Given the description of an element on the screen output the (x, y) to click on. 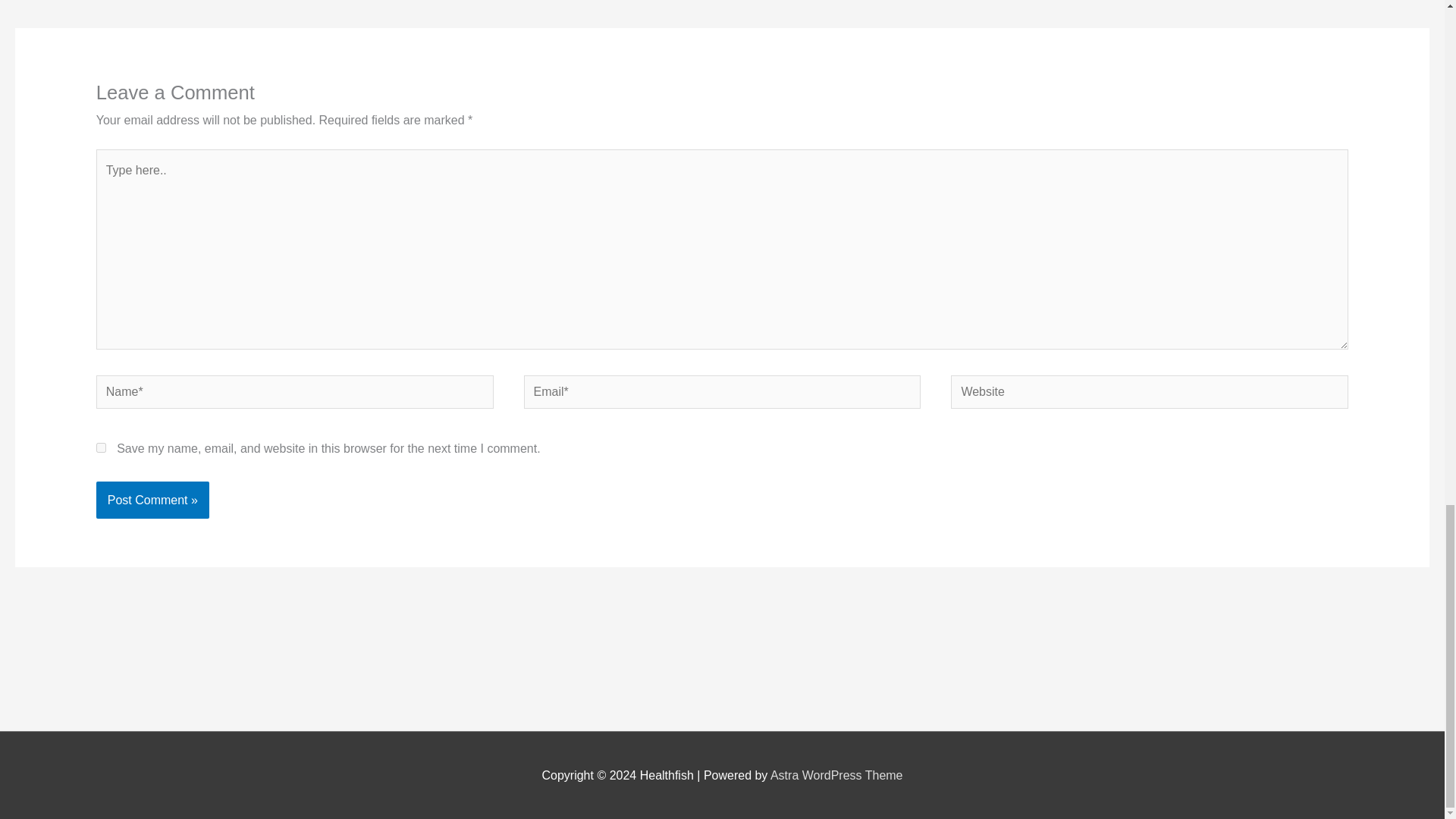
yes (101, 447)
Astra WordPress Theme (836, 775)
